Given the description of an element on the screen output the (x, y) to click on. 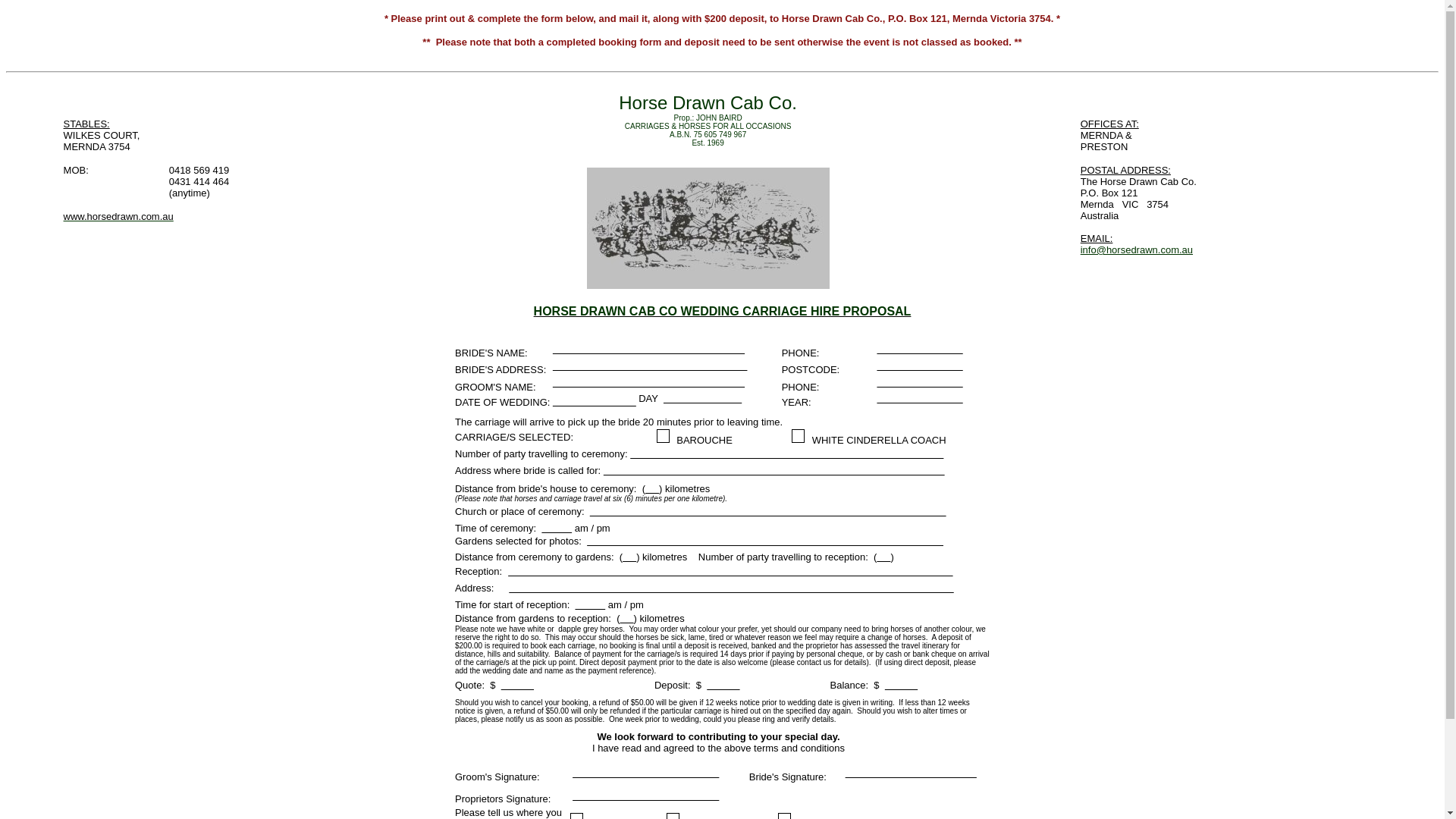
www.horsedrawn.com.au Element type: text (118, 220)
info@horsedrawn.com.au Element type: text (1136, 249)
